Given the description of an element on the screen output the (x, y) to click on. 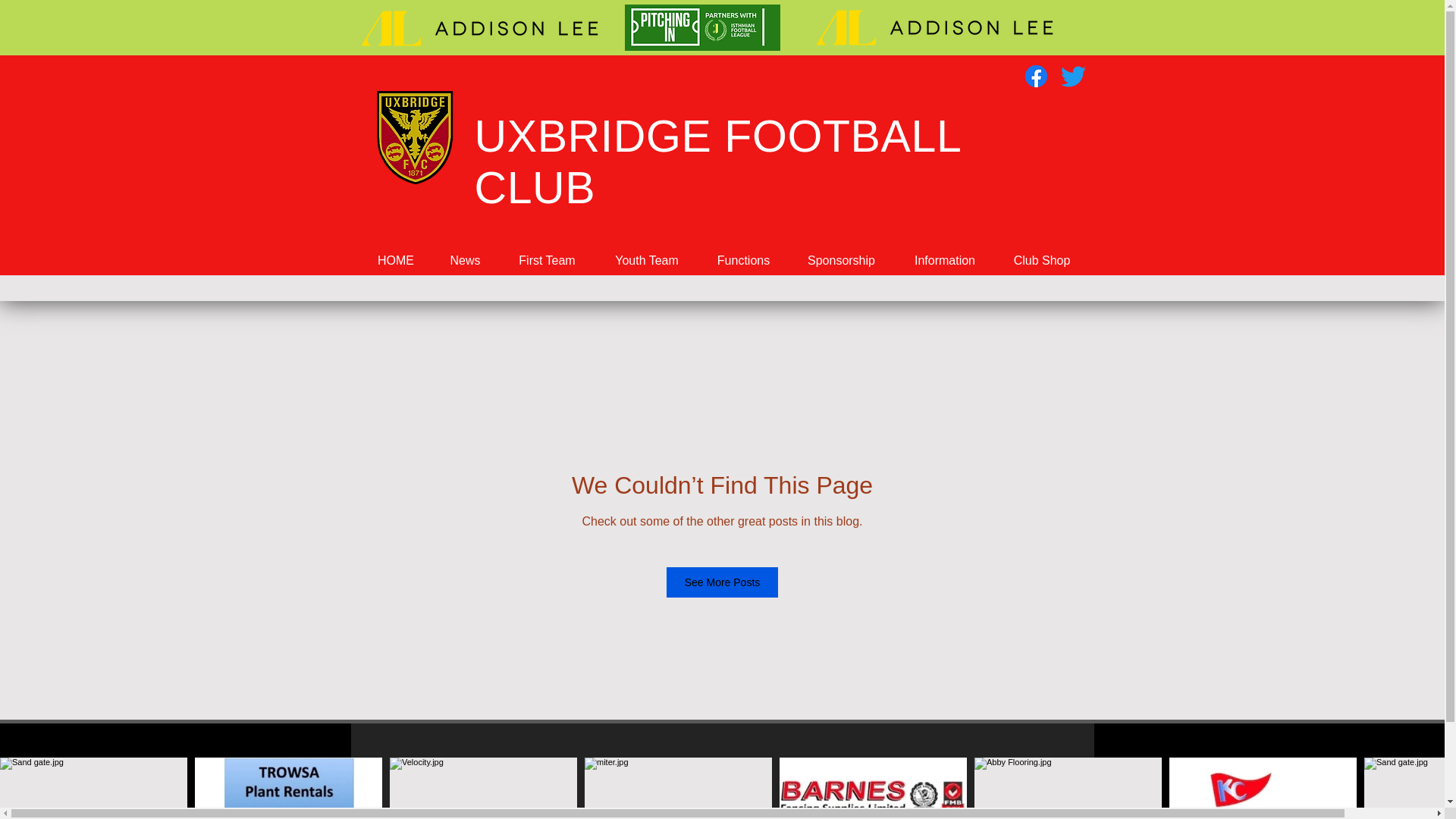
See More Posts (722, 582)
News (463, 260)
Functions (742, 260)
HOME (395, 260)
Club Shop (1040, 260)
Sponsorship (841, 260)
